Given the description of an element on the screen output the (x, y) to click on. 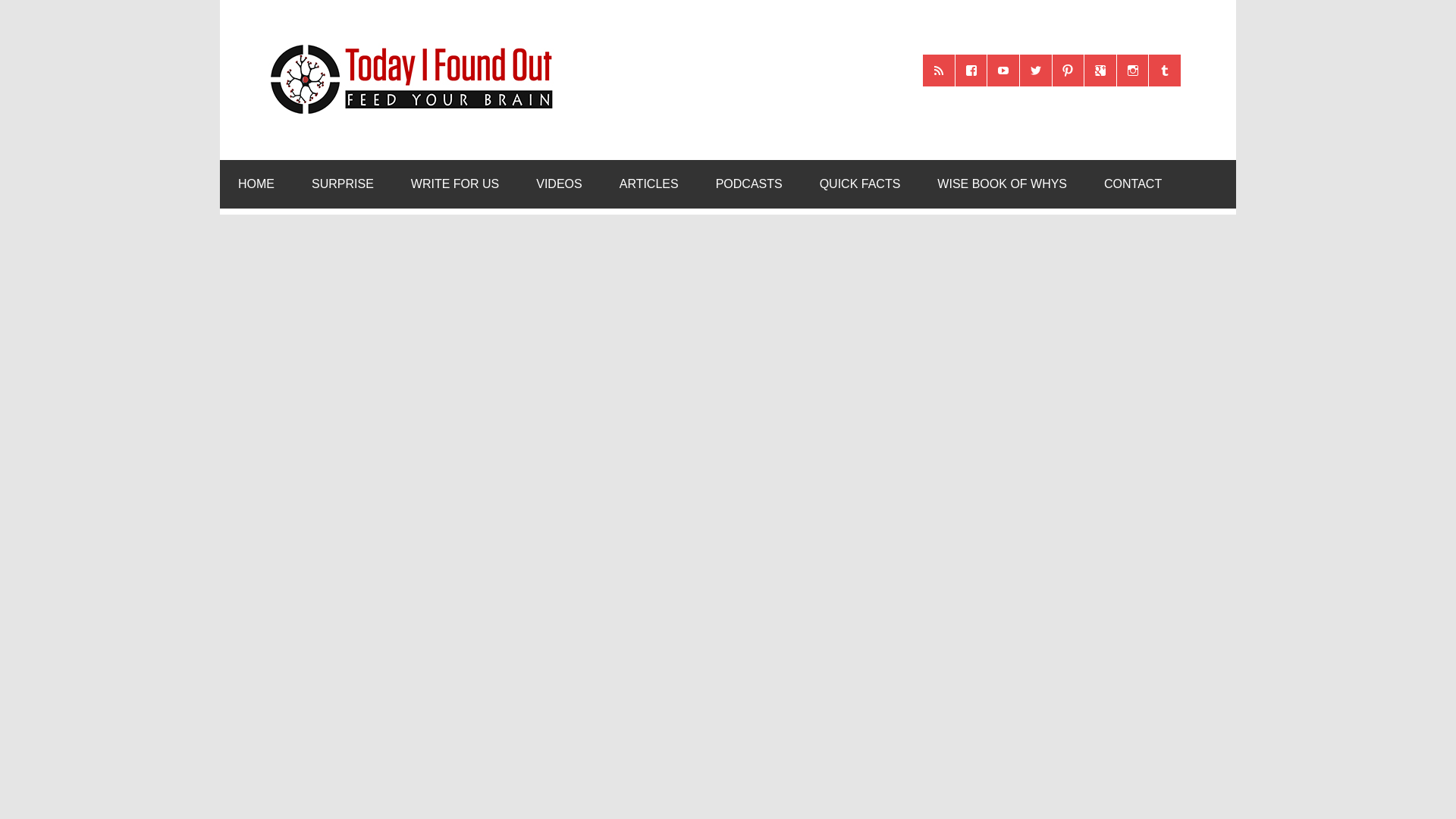
ARTICLES (649, 183)
SURPRISE (342, 183)
Interesting Facts (860, 183)
VIDEOS (558, 183)
WRITE FOR US (454, 183)
PODCASTS (748, 183)
QUICK FACTS (860, 183)
HOME (255, 183)
Today I Found Out (405, 42)
WISE BOOK OF WHYS (1001, 183)
